Given the description of an element on the screen output the (x, y) to click on. 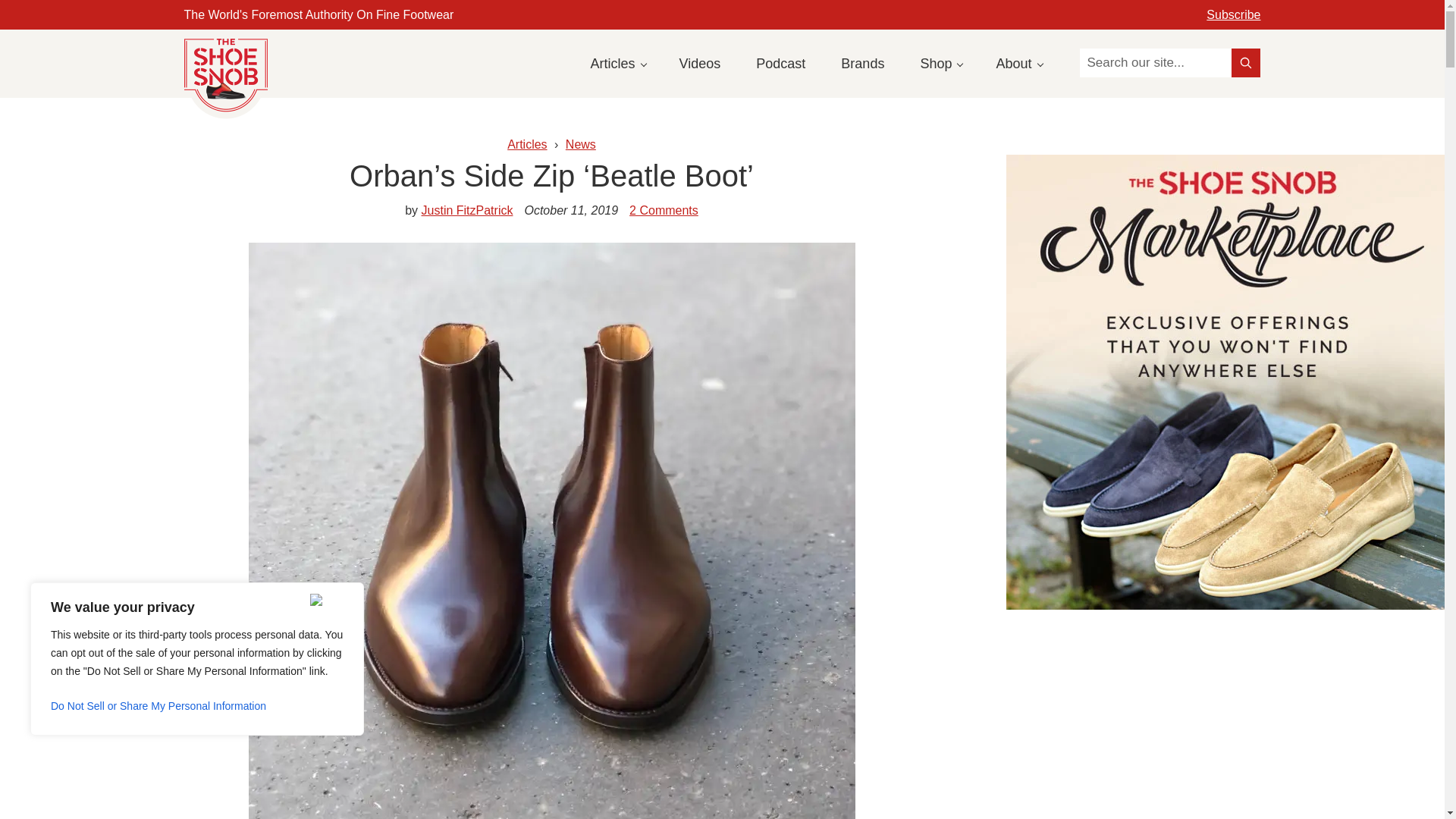
Articles (617, 63)
Subscribe (1233, 14)
Submit search (1245, 62)
Do Not Sell or Share My Personal Information (196, 705)
Submit search (1245, 62)
